Given the description of an element on the screen output the (x, y) to click on. 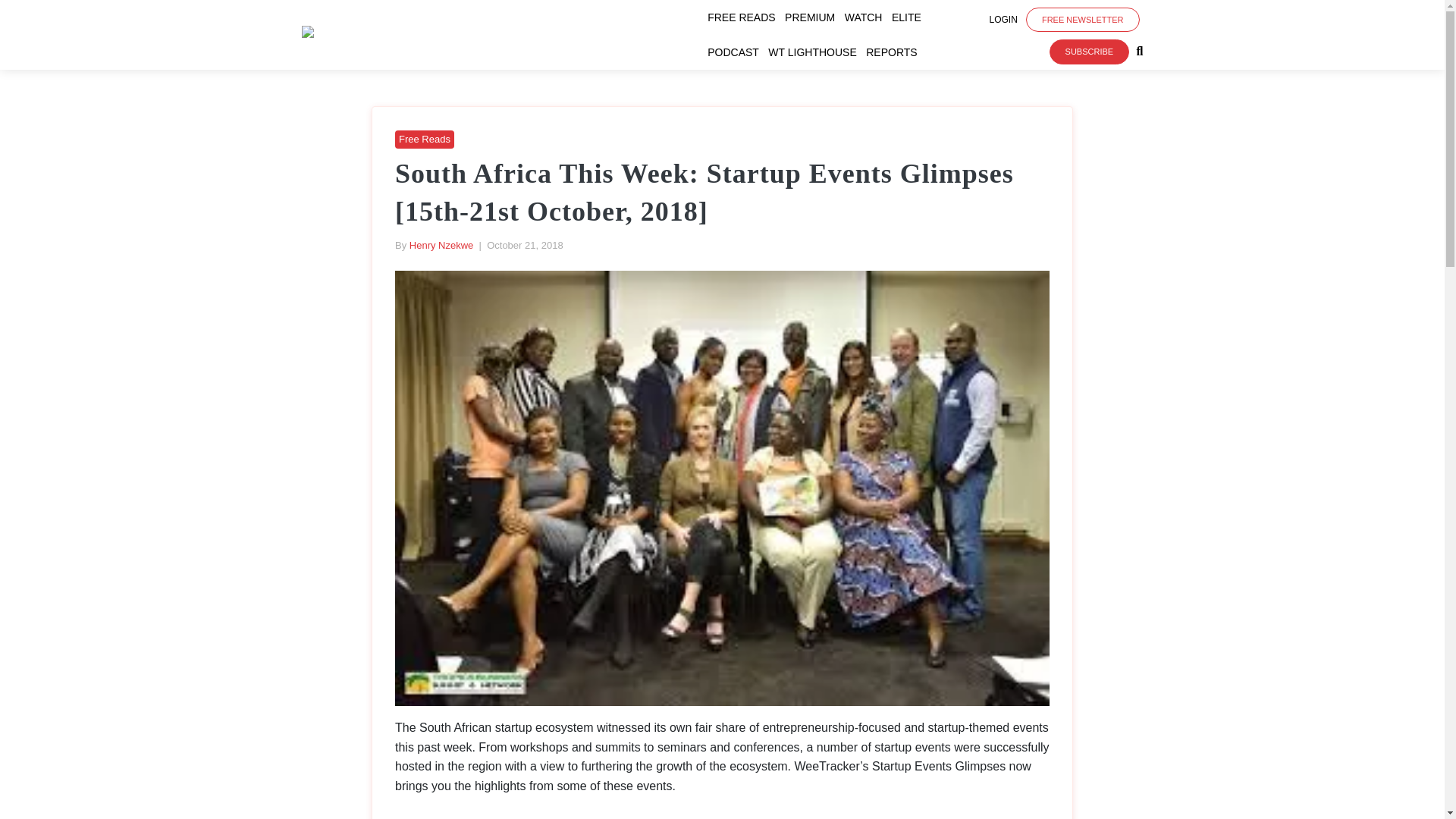
SUBSCRIBE (1089, 51)
Posts by Henry Nzekwe (441, 244)
WT LIGHTHOUSE (814, 51)
WATCH (866, 17)
PODCAST (736, 51)
Free Reads (423, 138)
FREE READS (743, 17)
ELITE (909, 17)
PREMIUM (812, 17)
REPORTS (894, 51)
Henry Nzekwe (441, 244)
FREE NEWSLETTER (1083, 19)
LOGIN (1003, 19)
